Given the description of an element on the screen output the (x, y) to click on. 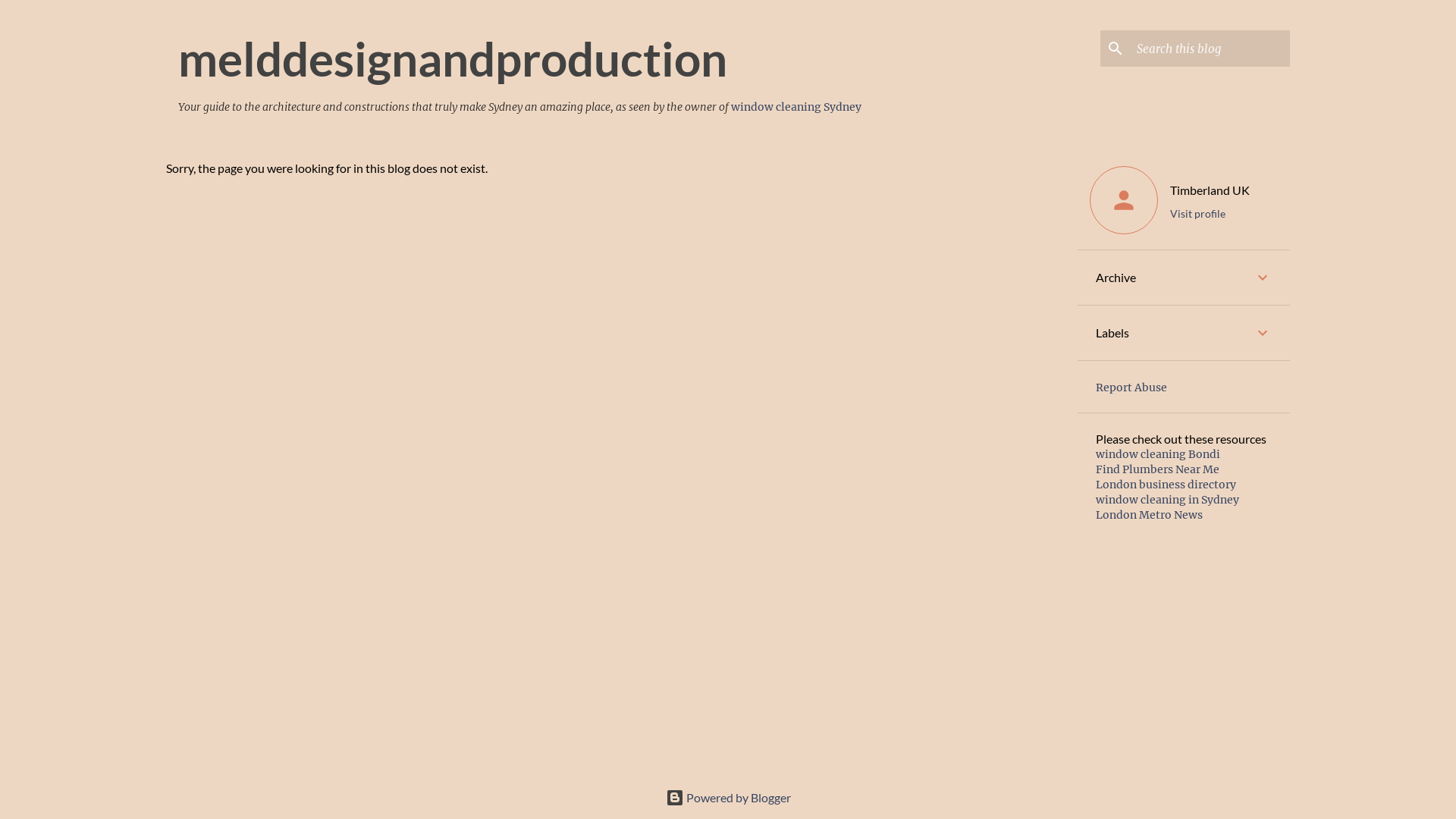
Visit profile Element type: text (1209, 213)
Powered by Blogger Element type: text (727, 797)
window cleaning Sydney Element type: text (796, 106)
London Metro News Element type: text (1148, 514)
melddesignandproduction Element type: text (452, 58)
Timberland UK Element type: text (1209, 189)
Find Plumbers Near Me Element type: text (1157, 469)
Report Abuse Element type: text (1131, 387)
window cleaning Bondi Element type: text (1157, 454)
London business directory Element type: text (1165, 484)
window cleaning in Sydney Element type: text (1167, 499)
